Given the description of an element on the screen output the (x, y) to click on. 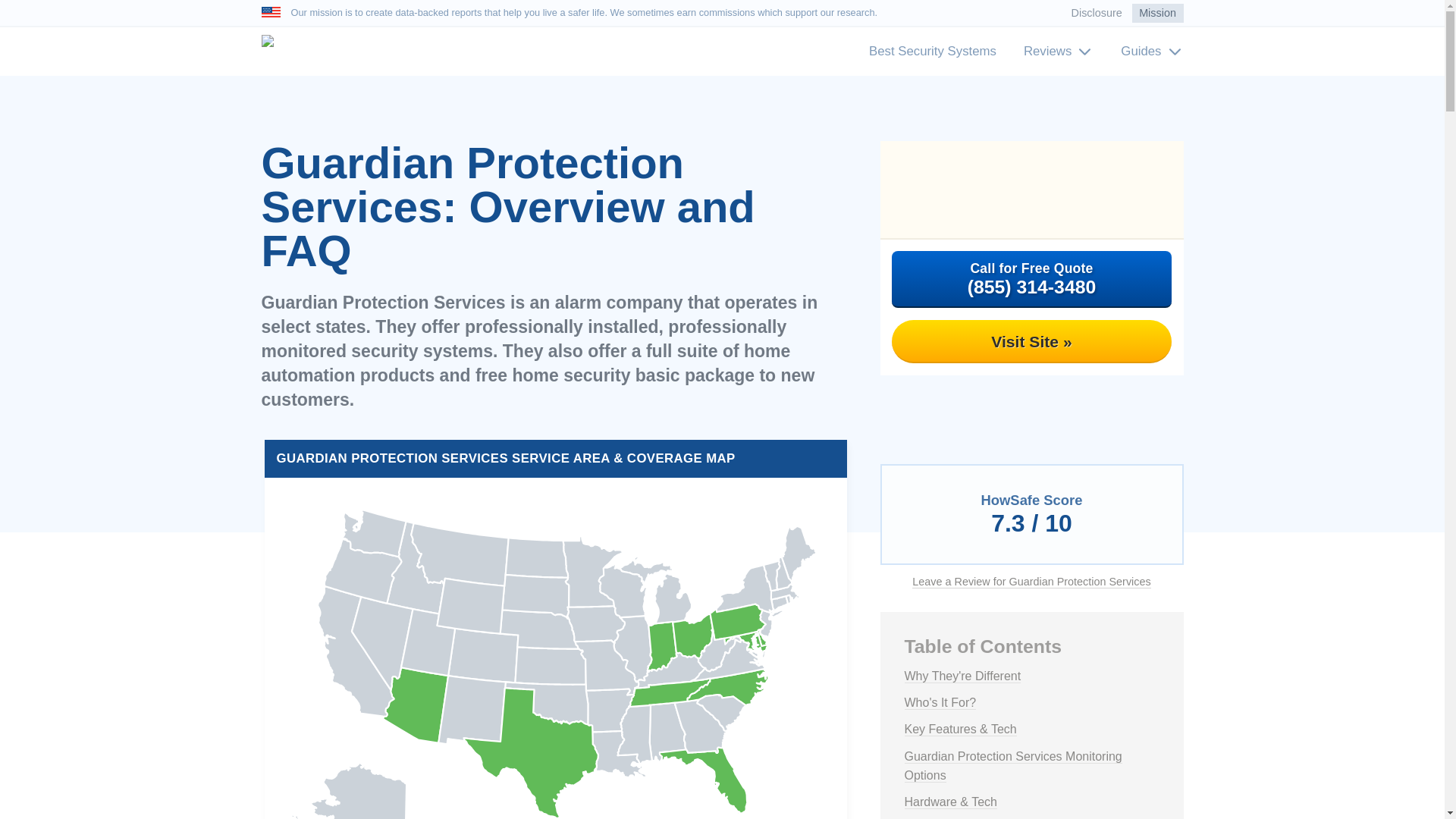
Leave a Review for Guardian Protection Services (1030, 581)
Best Security Systems (932, 51)
Who's It For? (939, 703)
Guardian Protection Services Monitoring Options (1012, 766)
Why They're Different (962, 676)
Mission (1157, 13)
HomeAlarmReport Logo (271, 40)
Disclosure (1096, 13)
